Given the description of an element on the screen output the (x, y) to click on. 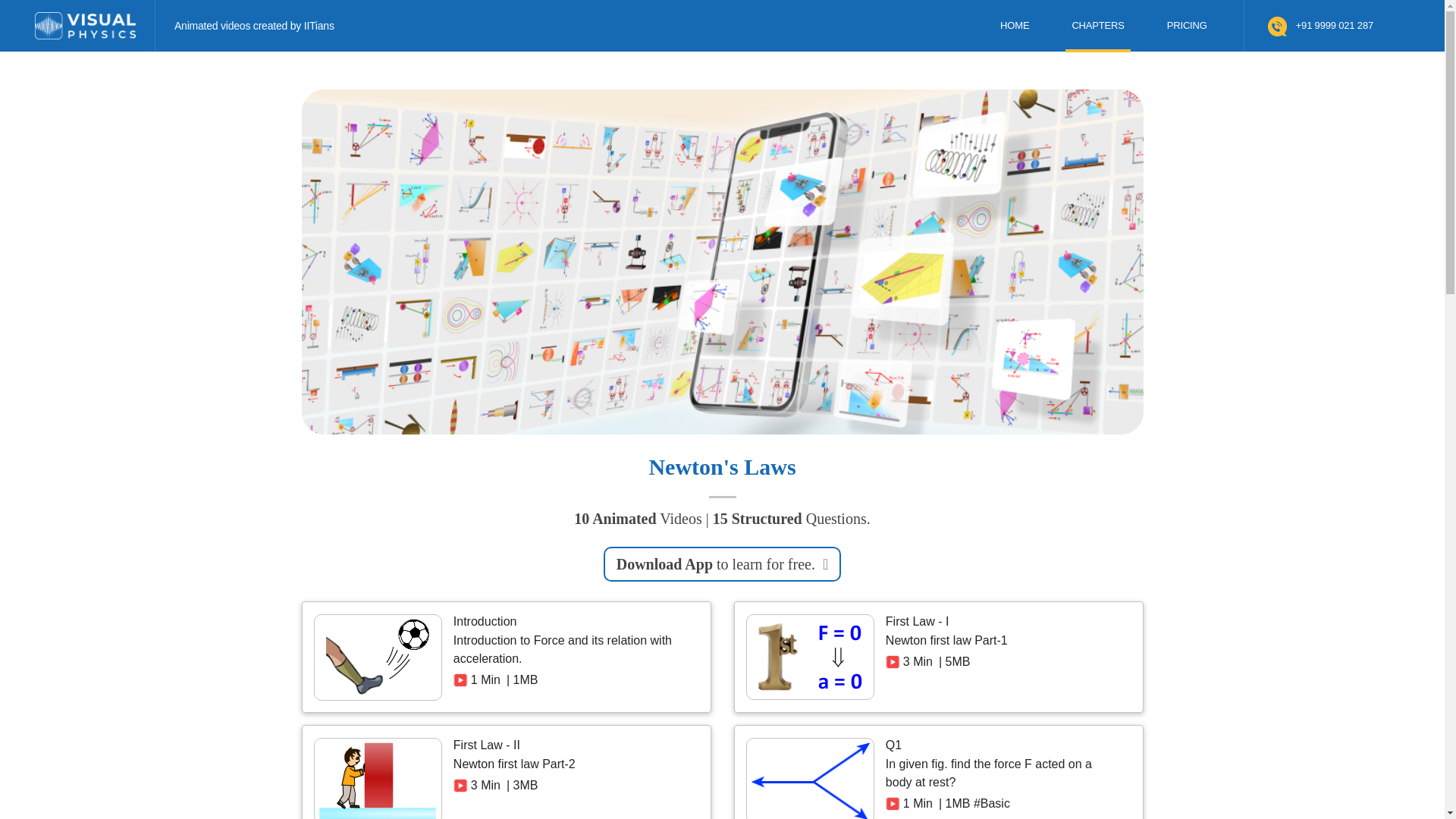
CHAPTERS (1097, 25)
PRICING (1186, 25)
Download App to learn for free. (721, 564)
HOME (1014, 25)
